Given the description of an element on the screen output the (x, y) to click on. 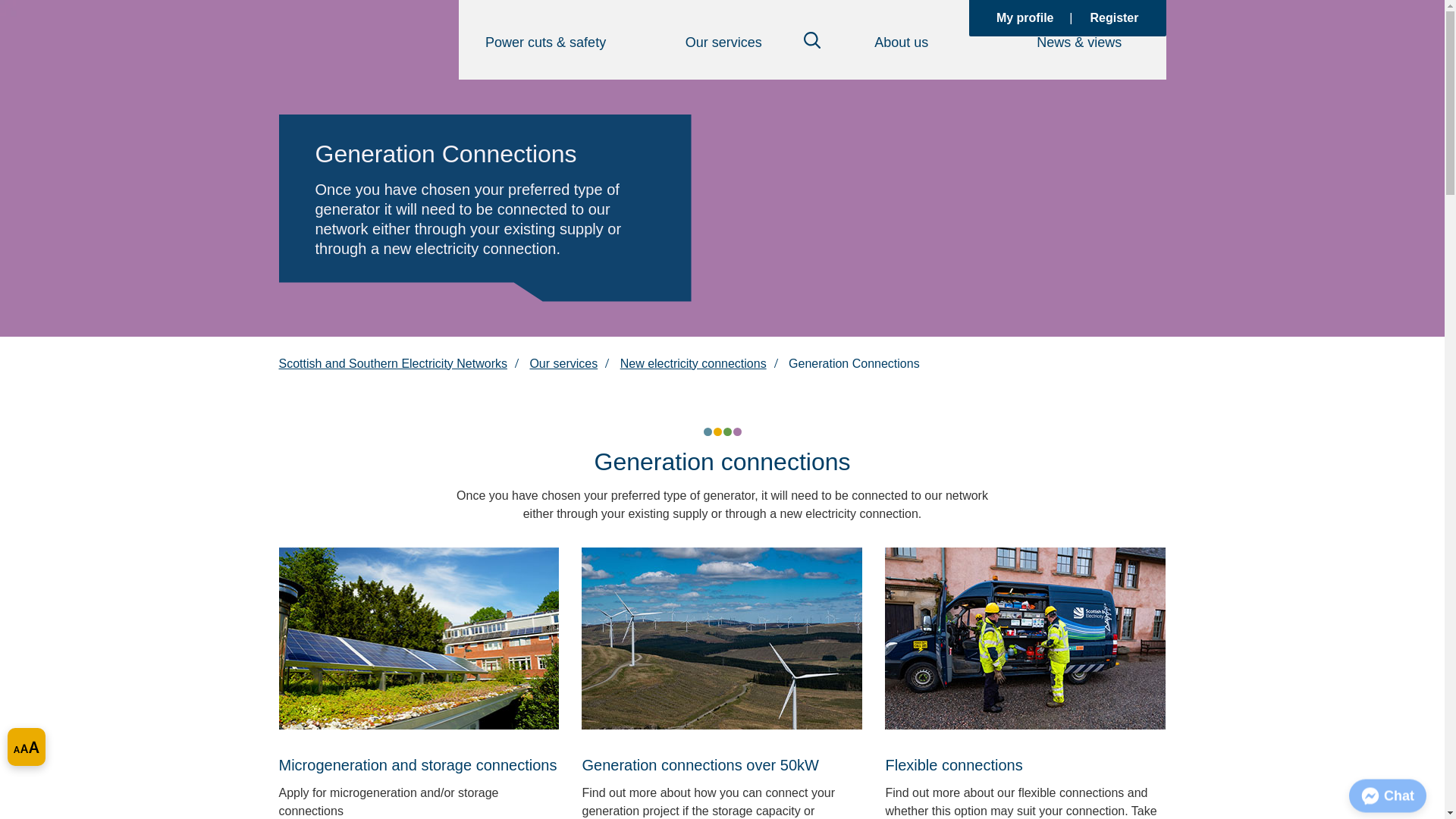
Our services (723, 42)
Our services (562, 363)
New electricity connections (693, 363)
Accessibility help? (26, 746)
Register (1113, 18)
About us (900, 42)
Scottish and Southern Electricity Networks (392, 363)
My profile (1024, 18)
Toggle Search (811, 39)
